Given the description of an element on the screen output the (x, y) to click on. 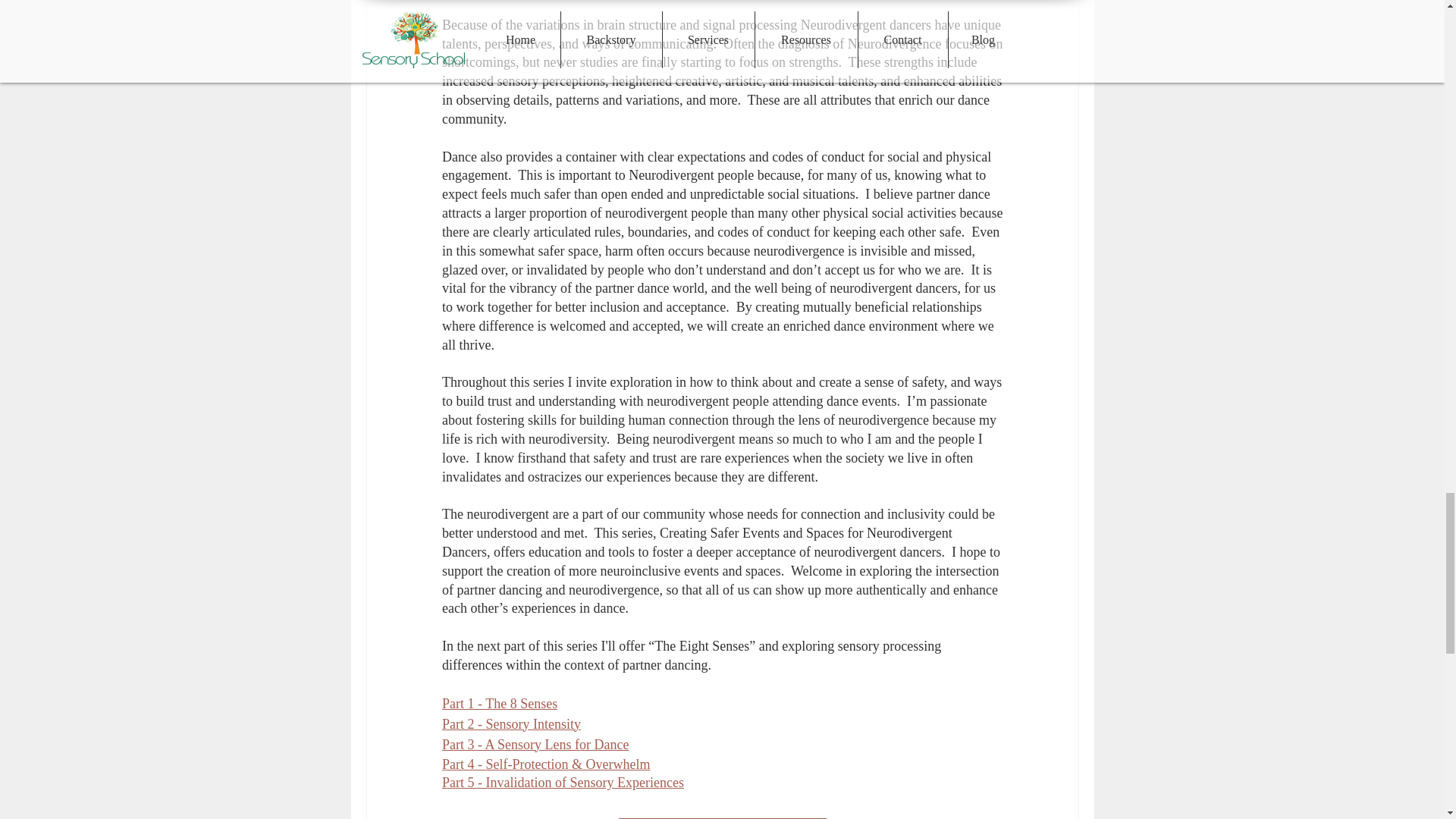
Part 5 - Invalidation of Sensory Experiences (561, 782)
Part 3 - A Sensory Lens for Dance (534, 744)
Part 1 - The 8 Senses (498, 703)
Part 2 - Sensory Intensity (510, 724)
